Given the description of an element on the screen output the (x, y) to click on. 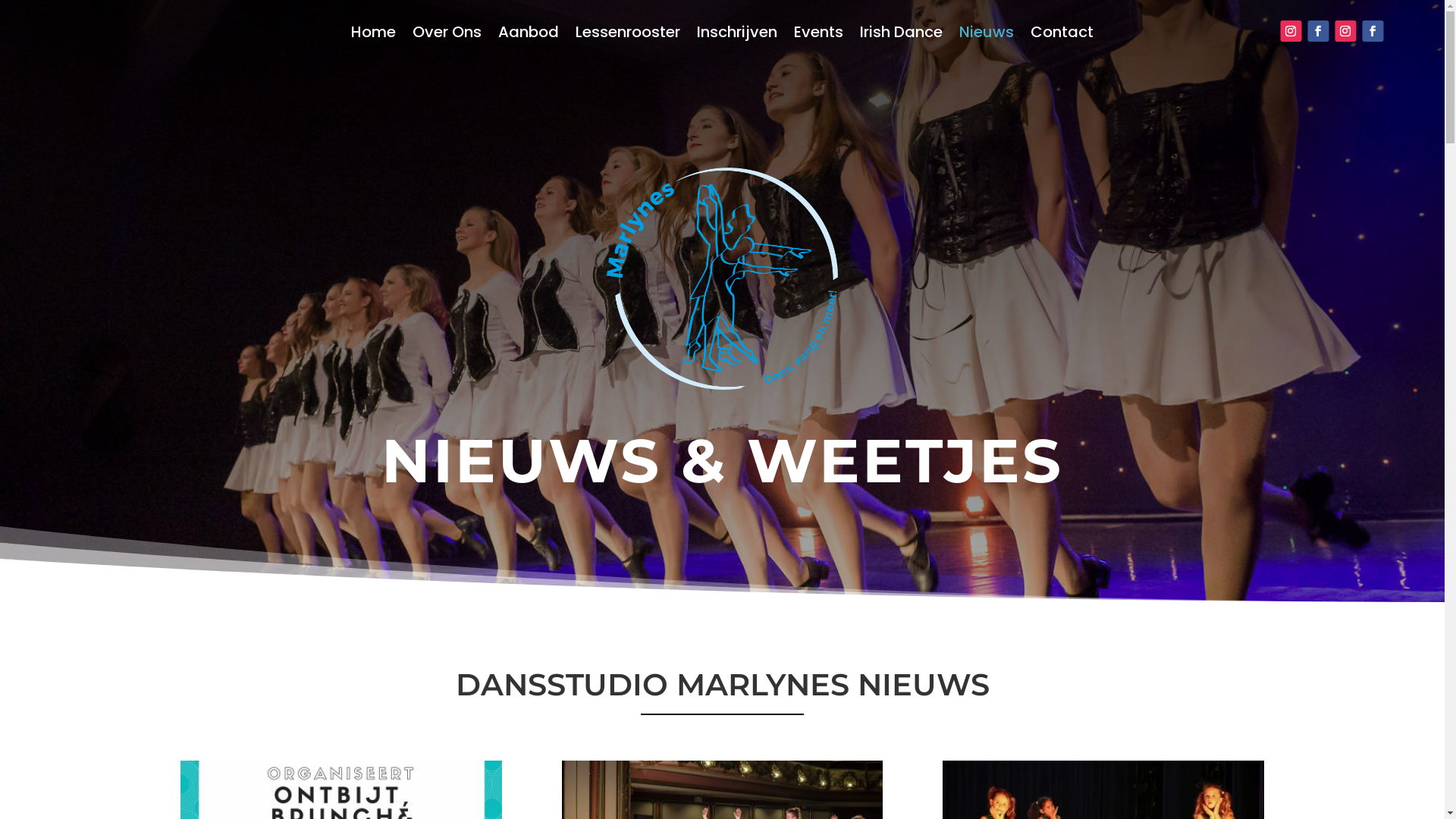
Volg op Facebook Element type: hover (1317, 30)
Events Element type: text (818, 34)
Nieuws Element type: text (986, 34)
Inschrijven Element type: text (736, 34)
Volg op Facebook Element type: hover (1372, 30)
Over Ons Element type: text (446, 34)
Contact Element type: text (1061, 34)
Home Element type: text (373, 34)
Aanbod Element type: text (528, 34)
Volg op Instagram Element type: hover (1290, 30)
Lessenrooster Element type: text (627, 34)
Irish Dance Element type: text (900, 34)
2021_Marlynes_logo_def_socialemedia-website Element type: hover (721, 278)
Volg op Instagram Element type: hover (1344, 30)
